Given the description of an element on the screen output the (x, y) to click on. 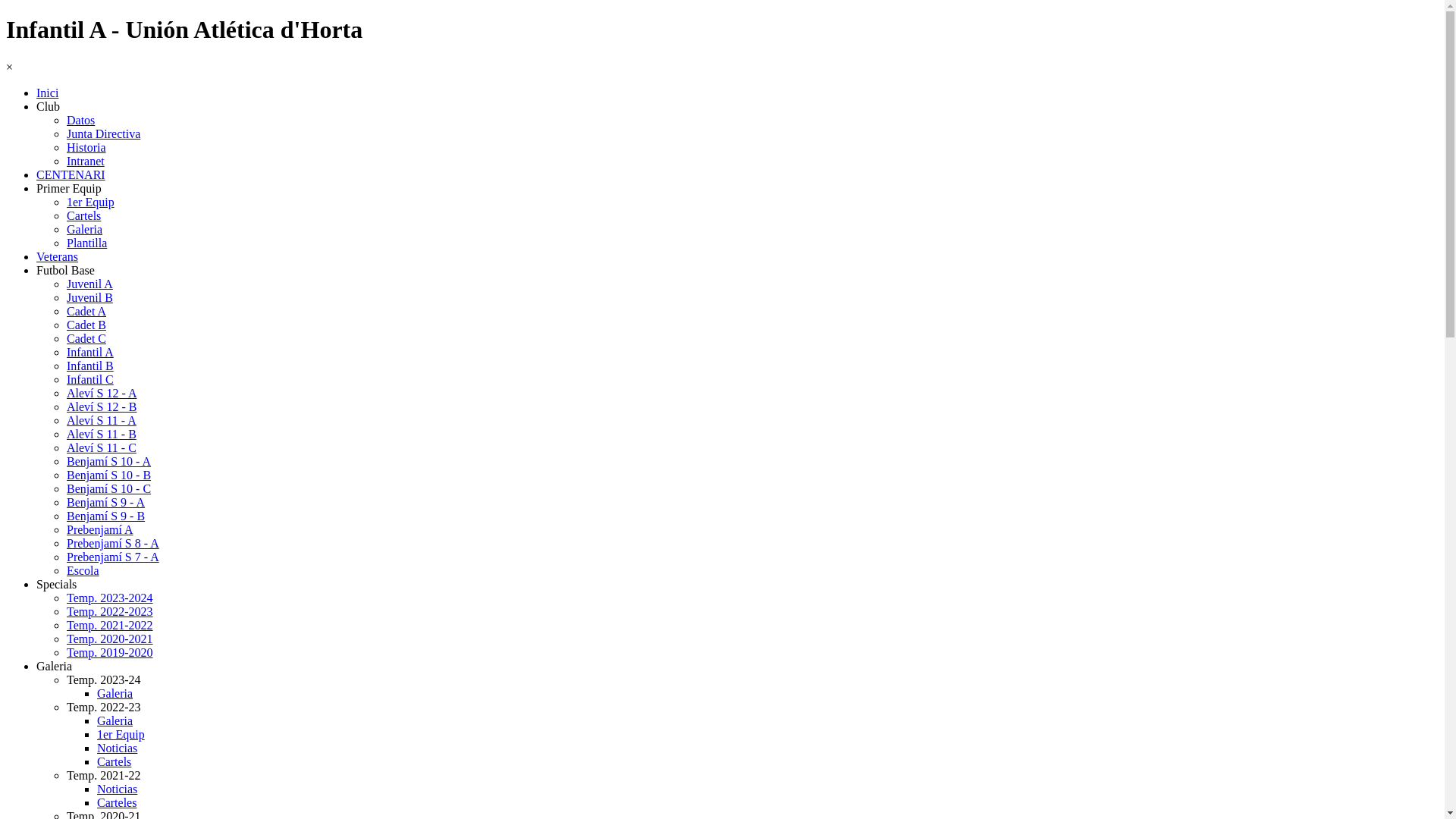
Temp. 2019-2020 Element type: text (109, 652)
Juvenil A Element type: text (89, 283)
Cadet C Element type: text (86, 338)
Noticias Element type: text (117, 788)
1er Equip Element type: text (90, 201)
CENTENARI Element type: text (70, 174)
Inici Element type: text (47, 92)
Intranet Element type: text (85, 160)
Infantil A Element type: text (89, 351)
Junta Directiva Element type: text (103, 133)
Juvenil B Element type: text (89, 297)
Cartels Element type: text (114, 761)
Noticias Element type: text (117, 747)
Infantil B Element type: text (89, 365)
Plantilla Element type: text (86, 242)
Temp. 2021-2022 Element type: text (109, 624)
Temp. 2020-2021 Element type: text (109, 638)
1er Equip Element type: text (120, 734)
Infantil C Element type: text (89, 379)
Galeria Element type: text (84, 228)
Galeria Element type: text (114, 693)
Temp. 2022-2023 Element type: text (109, 611)
Cadet B Element type: text (86, 324)
Historia Element type: text (86, 147)
Carteles Element type: text (116, 802)
Datos Element type: text (80, 119)
Cartels Element type: text (83, 215)
Galeria Element type: text (114, 720)
Escola Element type: text (82, 570)
Cadet A Element type: text (86, 310)
Temp. 2023-2024 Element type: text (109, 597)
Veterans Element type: text (57, 256)
